Given the description of an element on the screen output the (x, y) to click on. 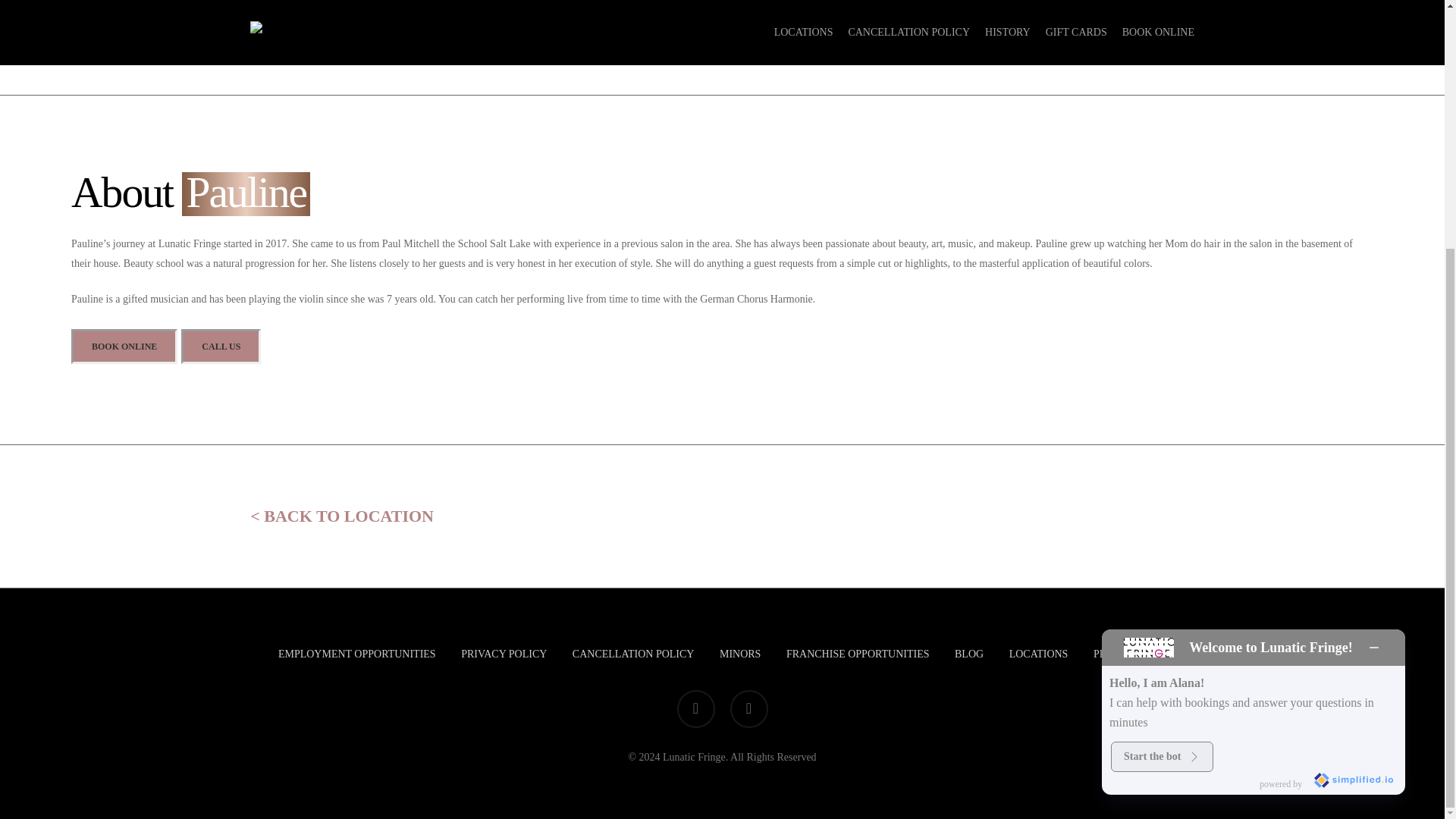
CALL US (220, 346)
MINORS (739, 654)
facebook (695, 709)
LOCATIONS (1038, 654)
BOOK ONLINE (544, 6)
EMPLOYMENT OPPORTUNITIES (356, 654)
PRIVACY POLICY (504, 654)
BOOK ONLINE (124, 346)
Welcome to Lunatic Fringe! (1270, 299)
FRANCHISE OPPORTUNITIES (858, 654)
